Given the description of an element on the screen output the (x, y) to click on. 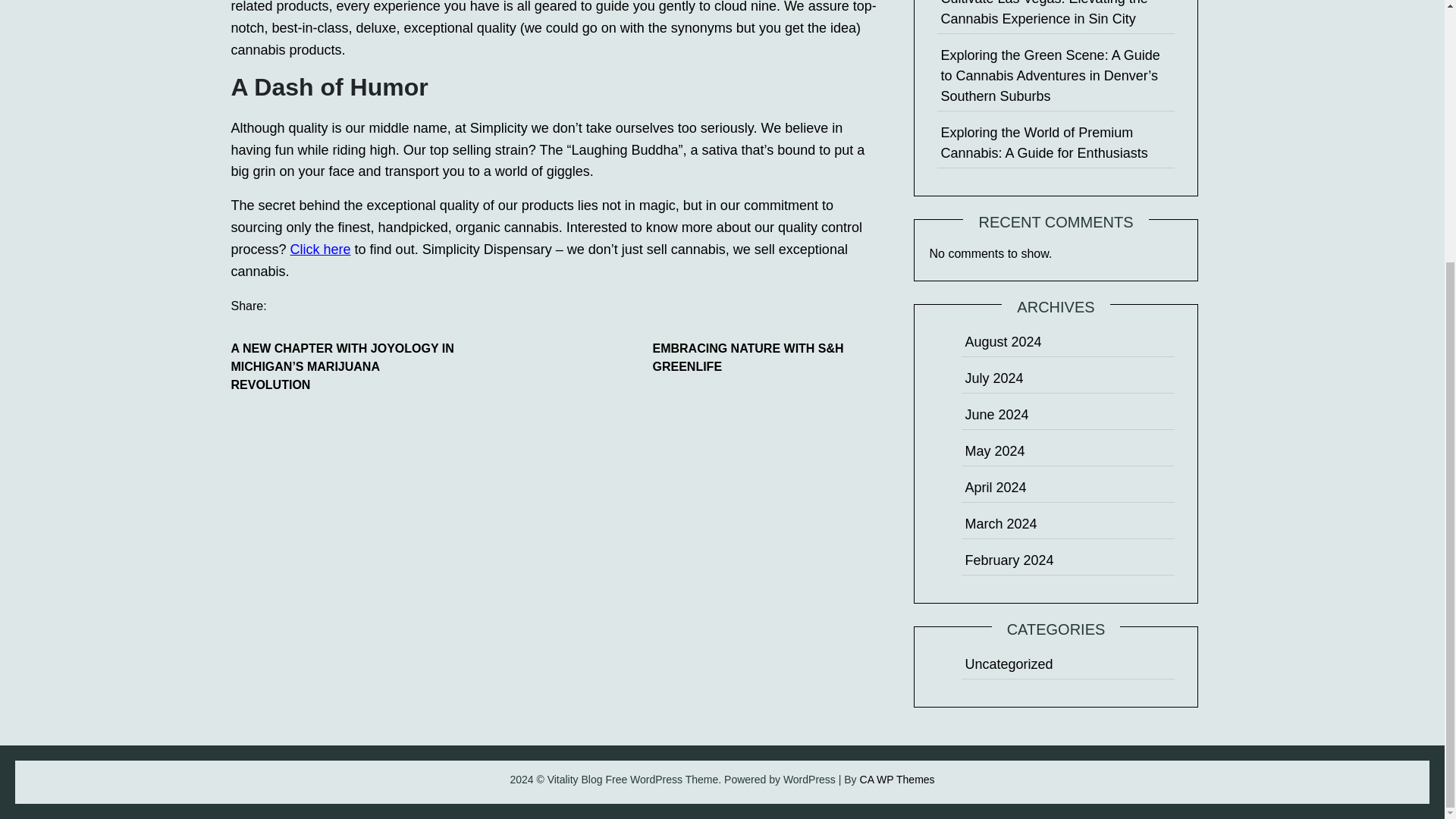
July 2024 (993, 378)
Uncategorized (1007, 663)
August 2024 (1002, 341)
May 2024 (994, 450)
Click here (319, 249)
CA WP Themes (897, 779)
March 2024 (999, 523)
February 2024 (1007, 560)
